Given the description of an element on the screen output the (x, y) to click on. 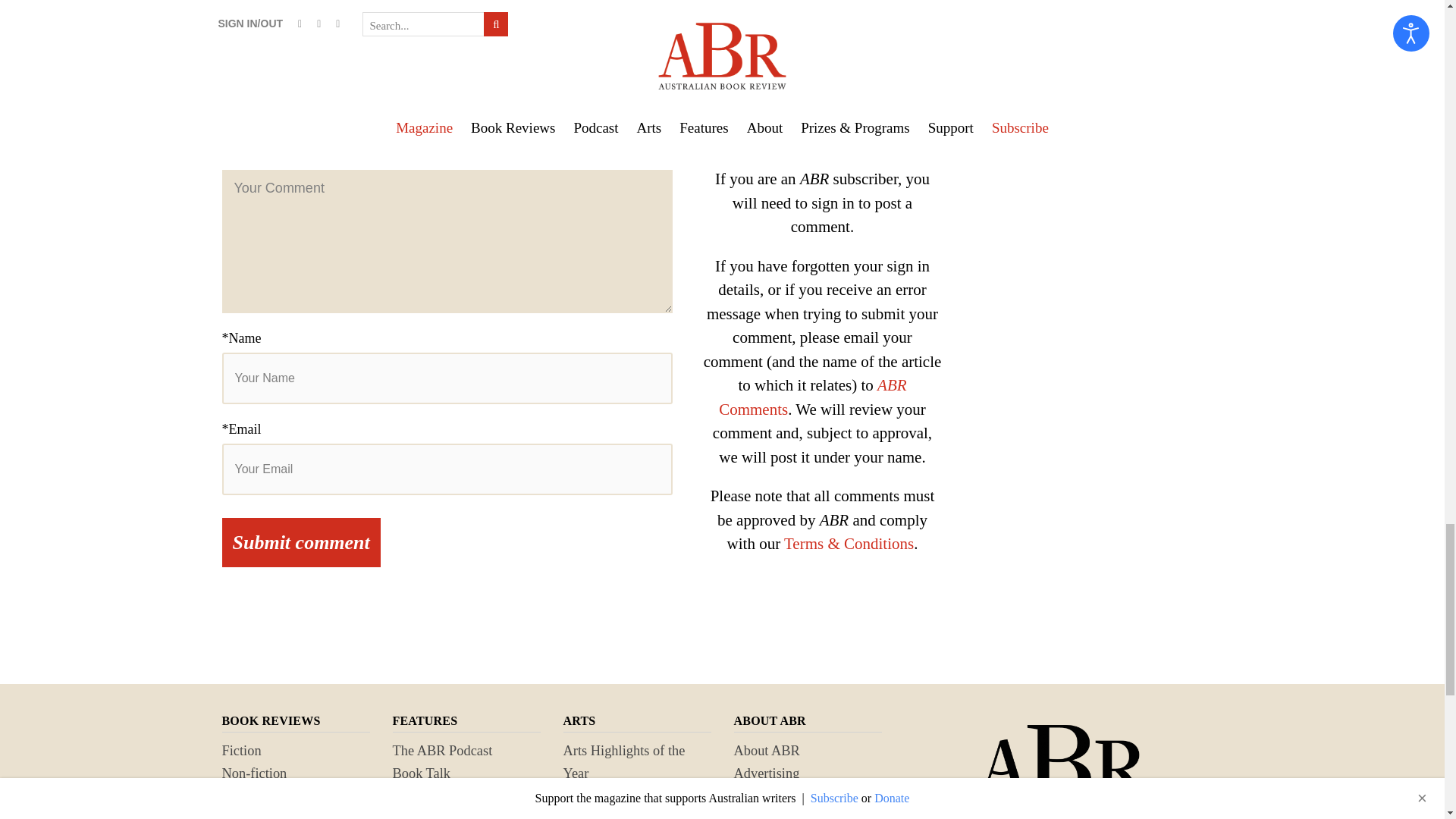
Your Name (446, 378)
Your Email (446, 469)
Submit comment (300, 542)
